Given the description of an element on the screen output the (x, y) to click on. 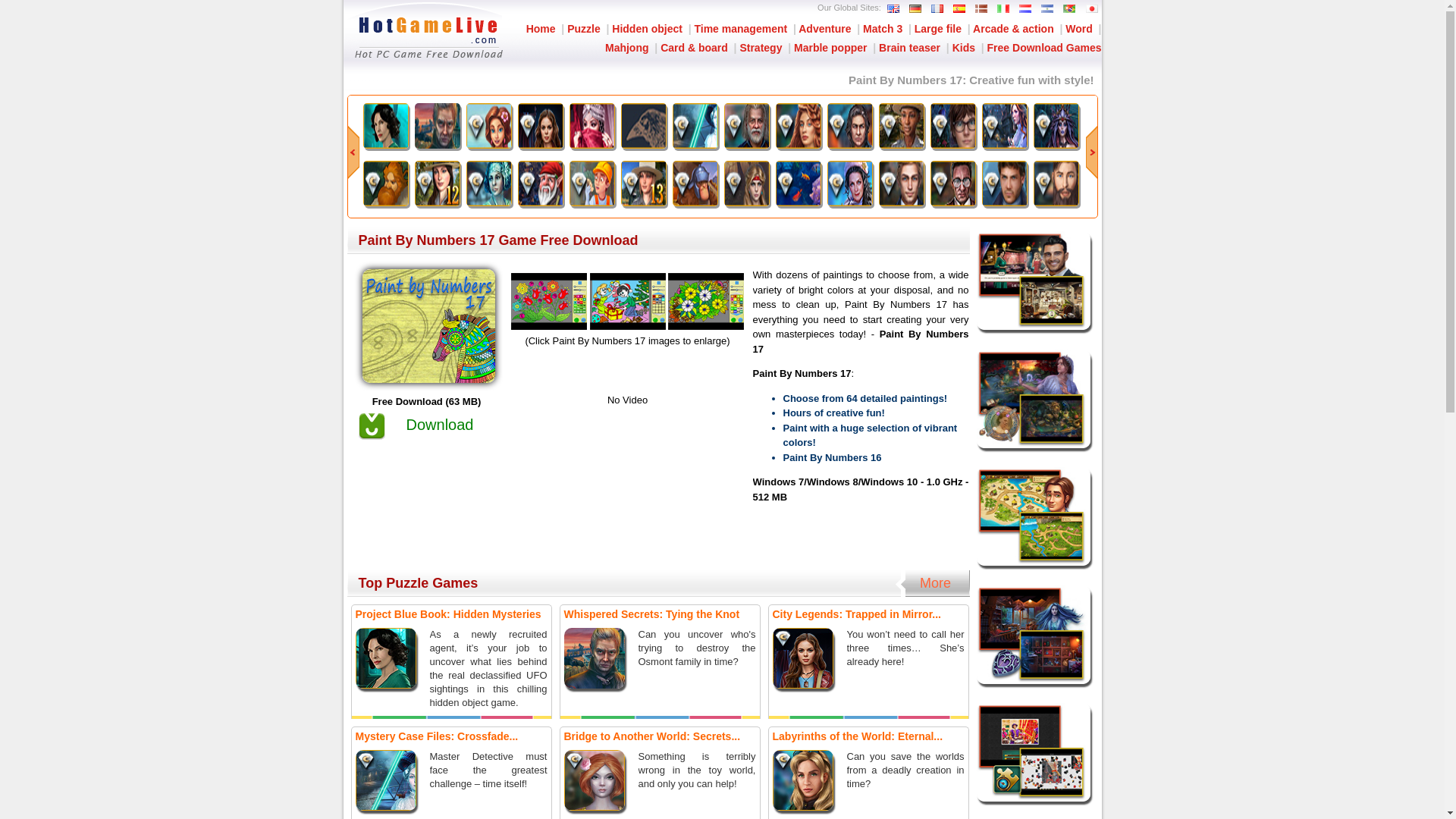
Rescue Team: Heist of the Century Collector's Edition (591, 202)
1001 Black Raven Jigsaw (642, 144)
Marble popper (829, 47)
Home (540, 28)
Vacation Adventures: Park Ranger 12 Collector's Edition (436, 202)
Strange Investigations: Becoming Collector's Edition (849, 144)
Islandville: A New Home Collector's Edition (488, 144)
Mahjong (627, 47)
Kids (963, 47)
Brain teaser (909, 47)
Adventure (823, 28)
Match 3 (882, 28)
1001 Jigsaw Castles And Palaces 2 (591, 144)
Large file (937, 28)
